Given the description of an element on the screen output the (x, y) to click on. 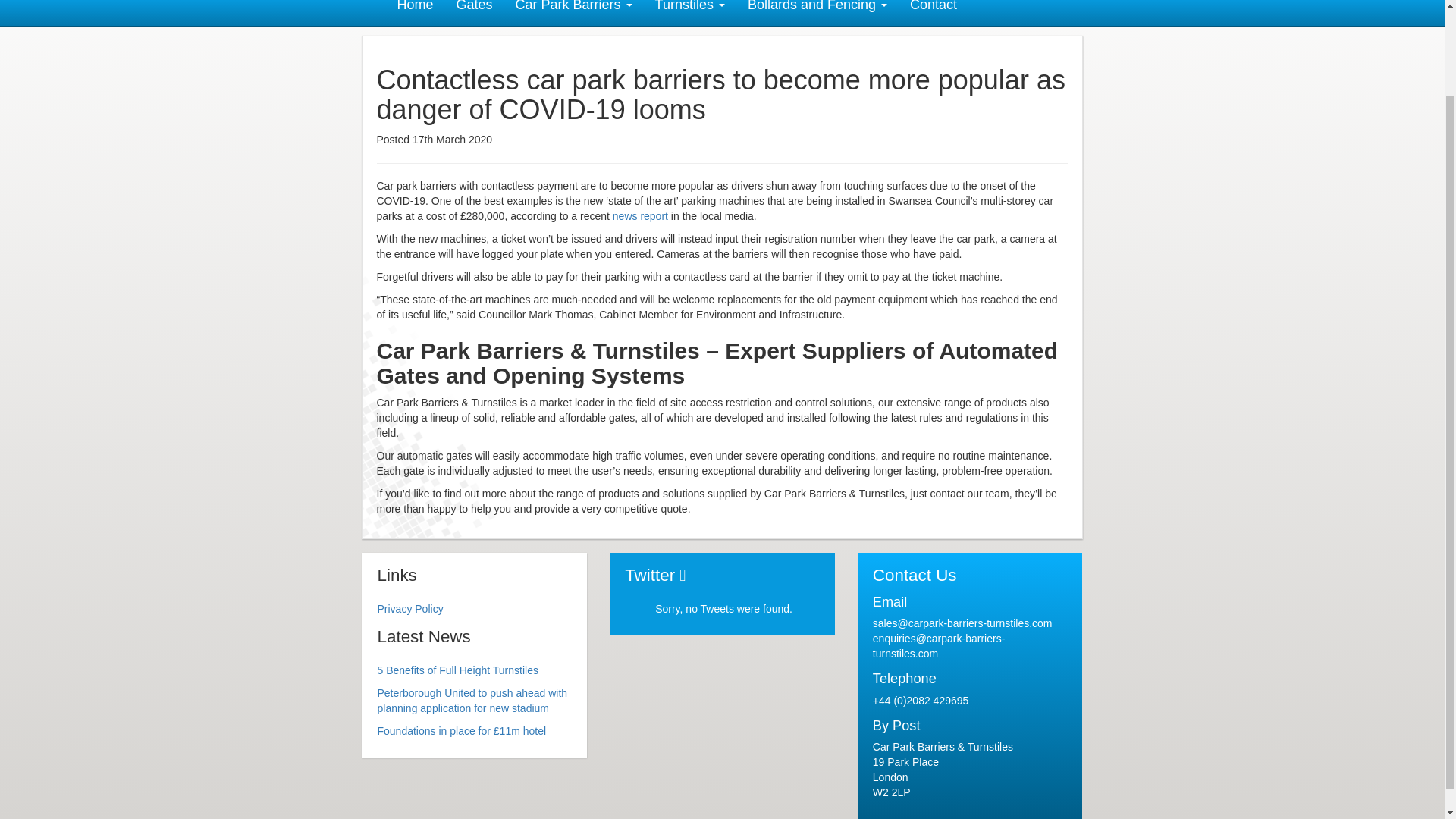
Car Park Barriers (573, 12)
Bollards and Fencing (817, 12)
Gates (474, 12)
Contact (933, 12)
5 Benefits of Full Height Turnstiles (457, 670)
Privacy Policy (410, 608)
Home (414, 12)
news report (641, 215)
Bollards and Fencing (817, 12)
Turnstiles (689, 12)
